Given the description of an element on the screen output the (x, y) to click on. 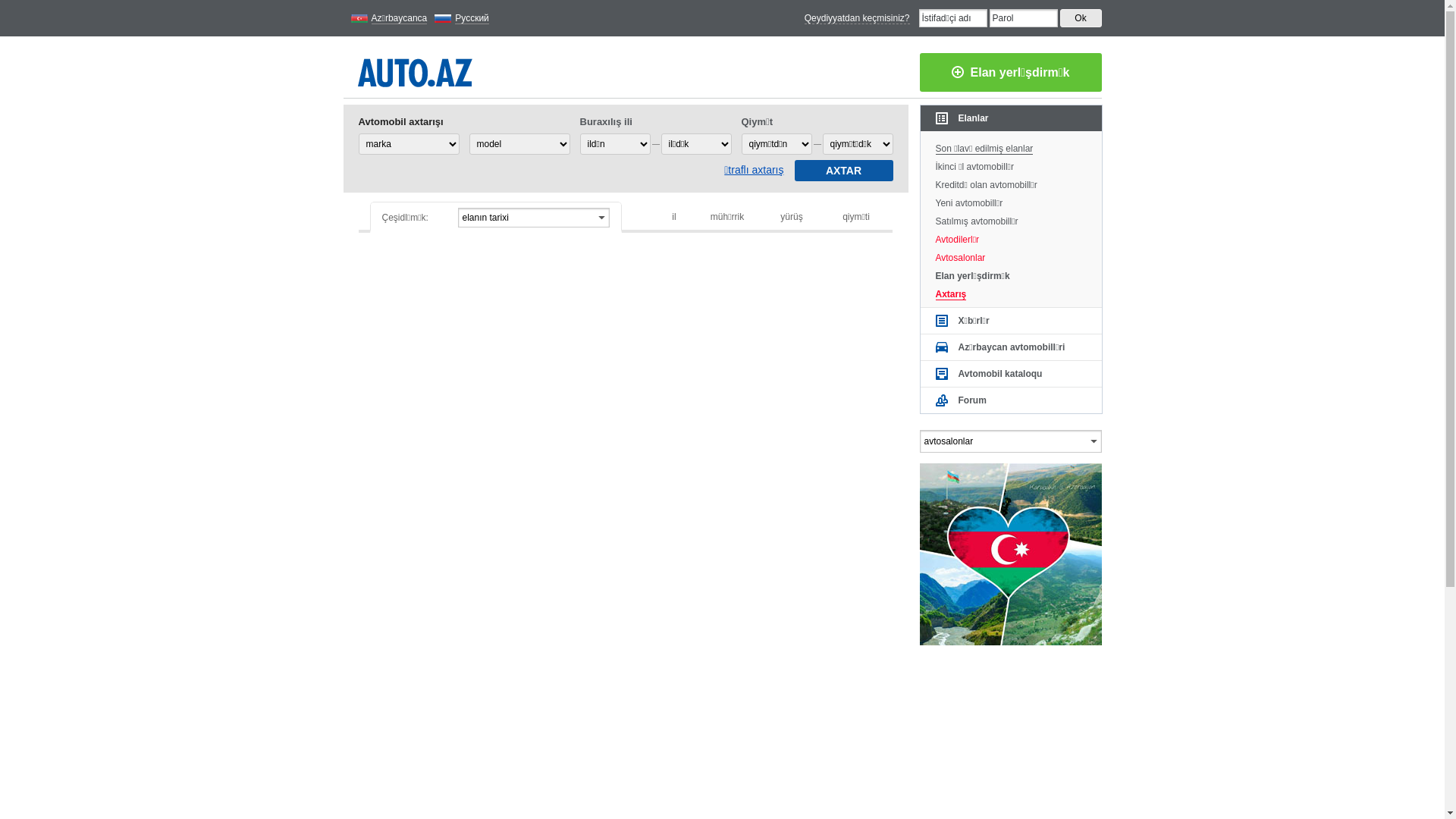
AXTAR Element type: text (843, 170)
Ok Element type: hover (1080, 18)
Elanlar Element type: text (1010, 118)
Forum Element type: text (1010, 400)
Ok Element type: text (1080, 18)
AUTO.AZ Element type: text (414, 70)
Avtosalonlar Element type: text (1010, 255)
Avtomobil kataloqu Element type: text (1010, 373)
